Given the description of an element on the screen output the (x, y) to click on. 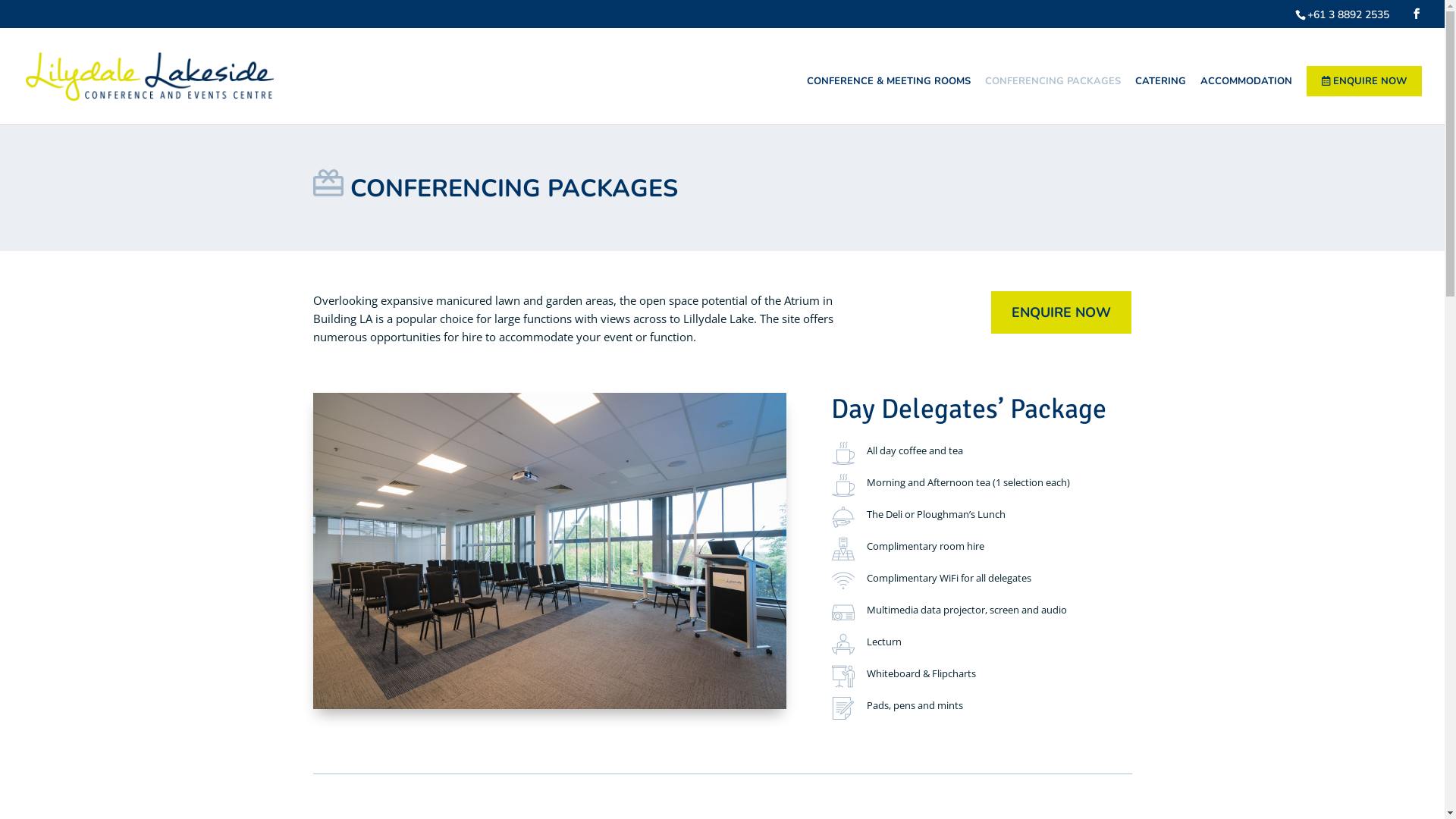
CATERING Element type: text (1160, 99)
ENQUIRE NOW Element type: text (1363, 99)
Conferencing Packages Element type: hover (548, 704)
ACCOMMODATION Element type: text (1246, 99)
CONFERENCE & MEETING ROOMS Element type: text (888, 99)
ENQUIRE NOW Element type: text (1061, 312)
CONFERENCING PACKAGES Element type: text (1052, 99)
